Given the description of an element on the screen output the (x, y) to click on. 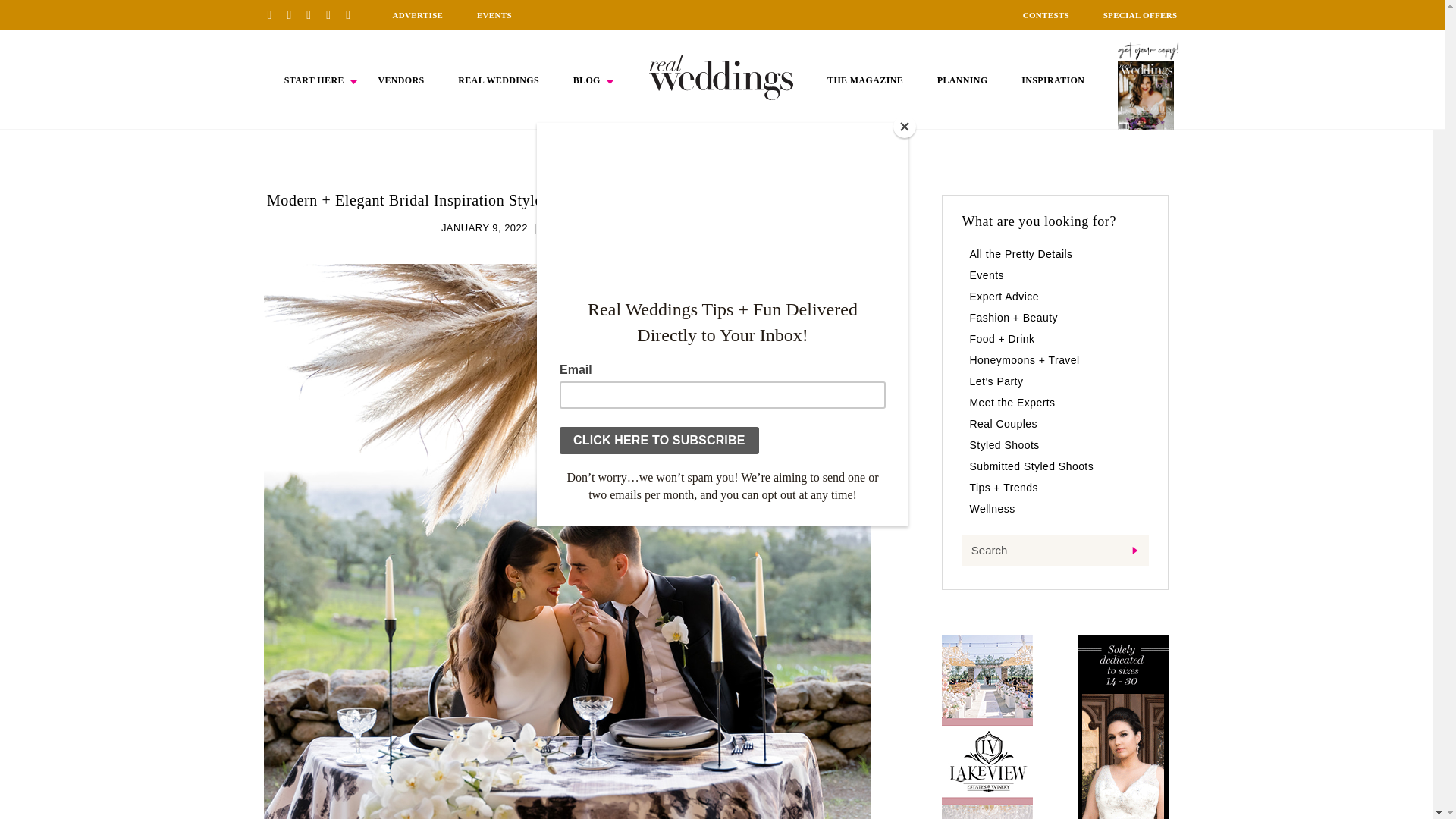
HOME (721, 76)
INSPIRATION (1053, 80)
PLANNING (962, 80)
START HERE (313, 80)
SPECIAL OFFERS (1140, 14)
BLOG (586, 80)
Facebook (294, 14)
Instagram (313, 14)
YouTube (353, 14)
EVENTS (494, 14)
REAL WEDDINGS (498, 80)
SUBMITTED STYLED SHOOTS (618, 227)
Twitter (334, 14)
ADVERTISE (416, 14)
Search (1054, 550)
